Given the description of an element on the screen output the (x, y) to click on. 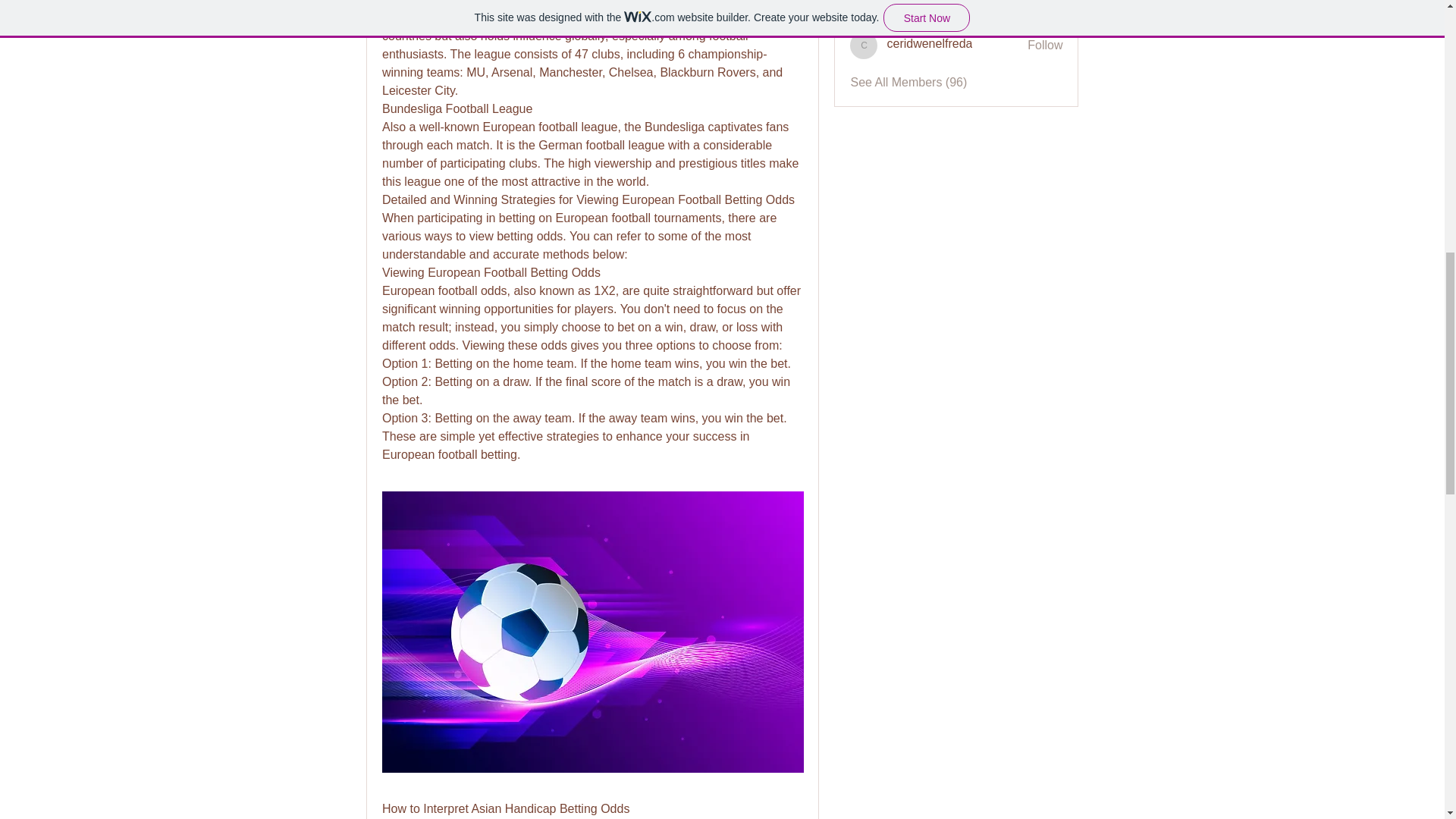
Living Yoga School (937, 6)
Follow (1044, 8)
Living Yoga School (863, 10)
ceridwenelfreda (929, 44)
ceridwenelfreda (929, 44)
ceridwenelfreda (863, 44)
Follow (1044, 45)
